Given the description of an element on the screen output the (x, y) to click on. 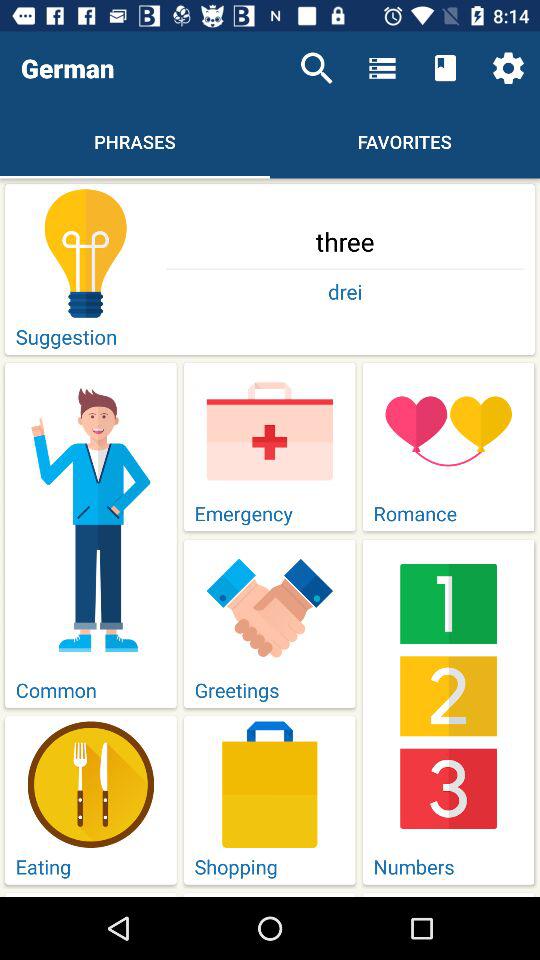
open icon above three item (316, 67)
